Given the description of an element on the screen output the (x, y) to click on. 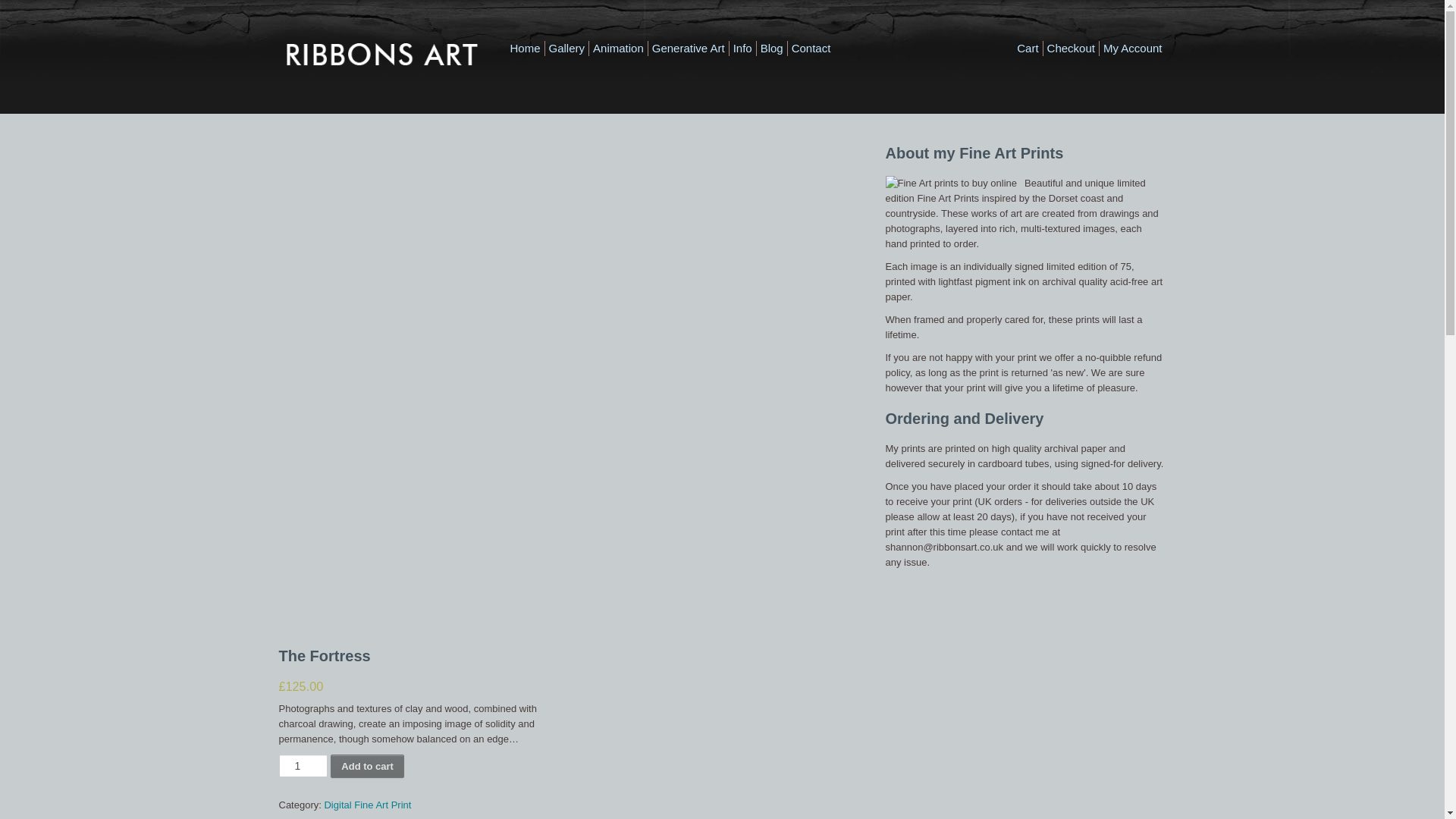
Contact (811, 47)
Digital Fine Art Print (366, 804)
Animation (617, 47)
Checkout (1070, 47)
Gallery (566, 47)
Info (742, 47)
1 (304, 765)
My Account (1132, 47)
Home (524, 47)
Generative Art (688, 47)
